Given the description of an element on the screen output the (x, y) to click on. 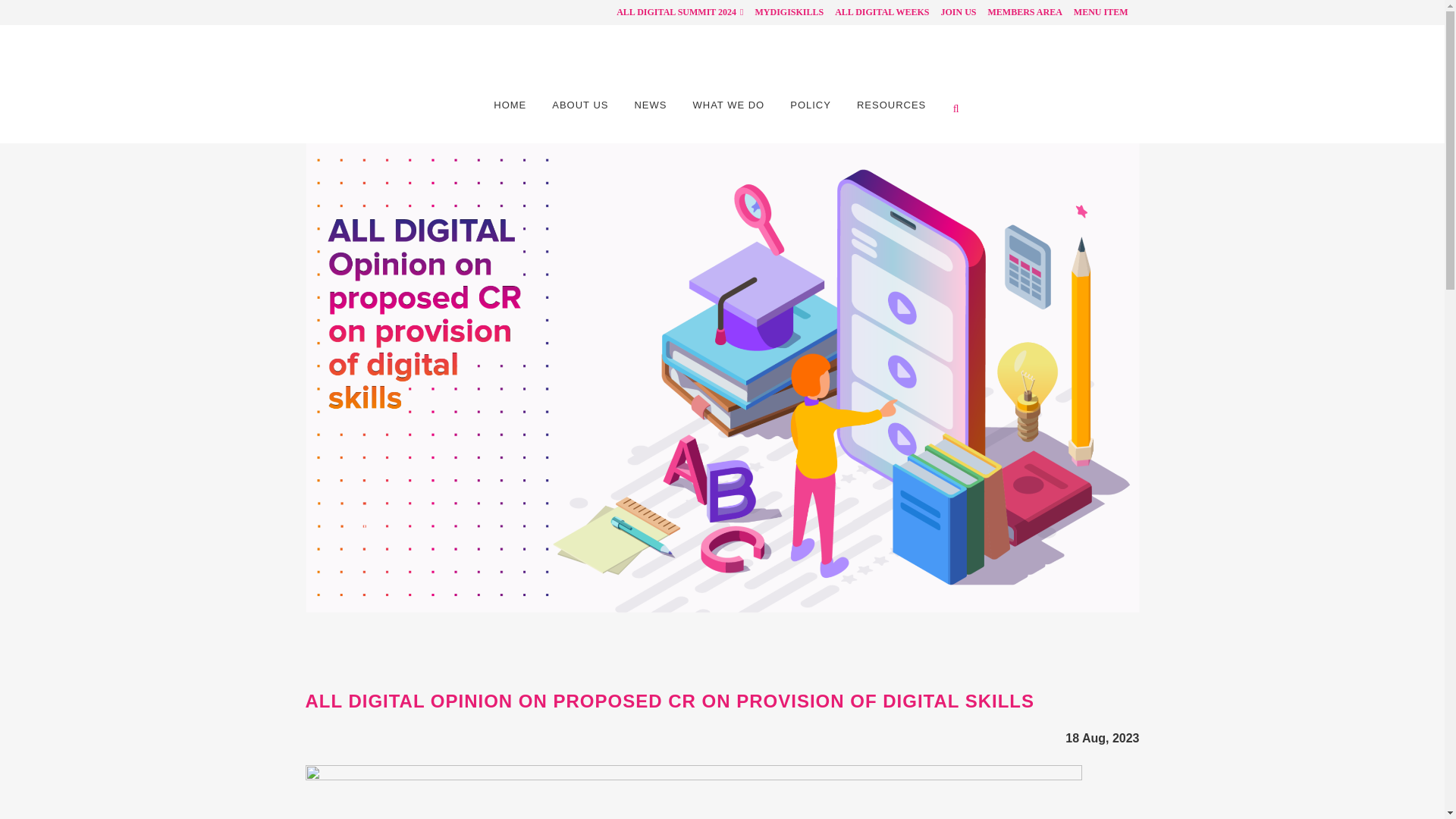
MYDIGISKILLS (783, 12)
JOIN US (951, 12)
WHAT WE DO (728, 105)
MEMBERS AREA (1018, 12)
ALL DIGITAL WEEKS (876, 12)
ALL DIGITAL SUMMIT 2024 (673, 12)
MENU ITEM (1095, 12)
ABOUT US (579, 105)
